Given the description of an element on the screen output the (x, y) to click on. 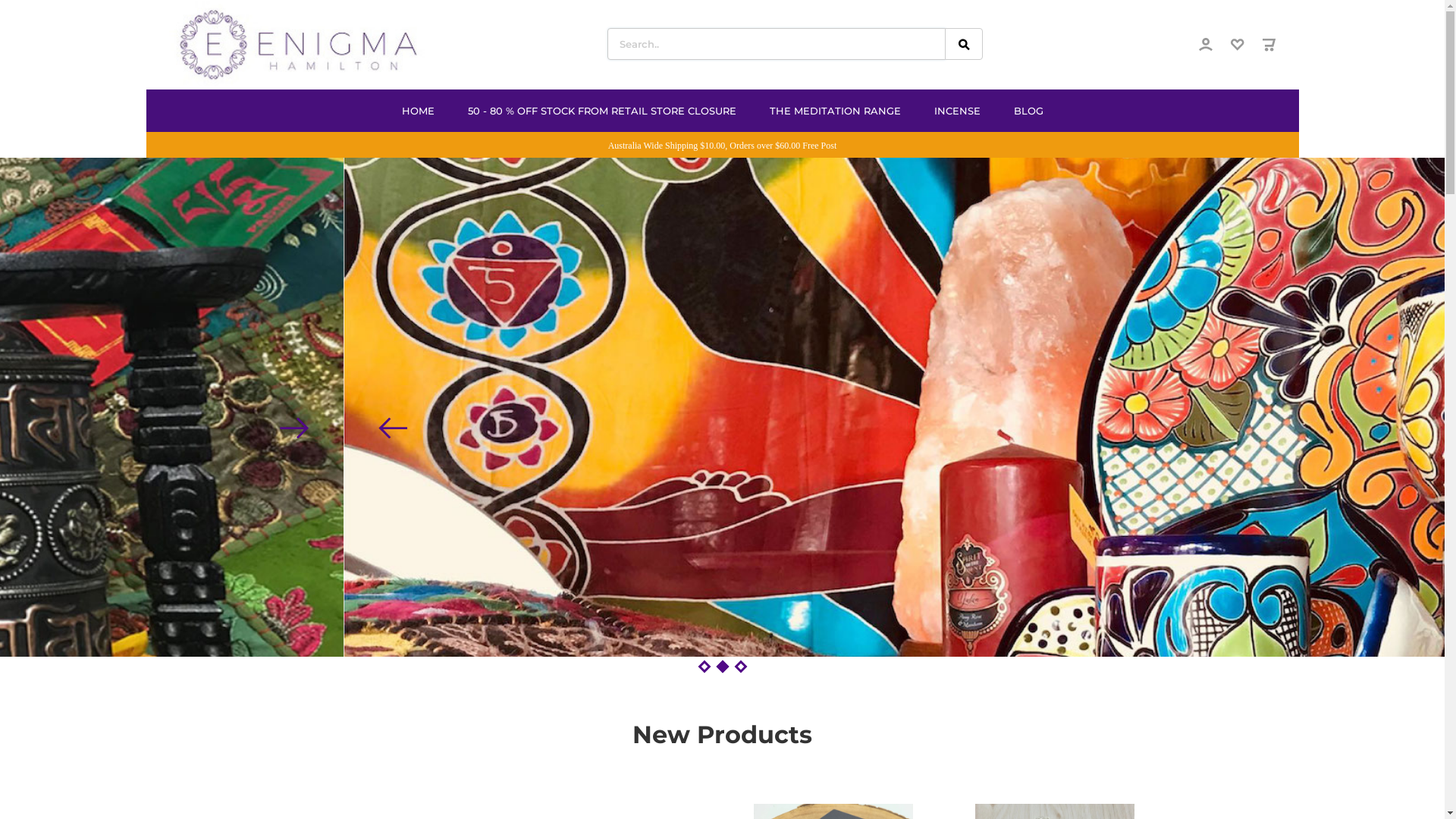
View cart Element type: hover (1268, 47)
HOME Element type: text (417, 111)
THE MEDITATION RANGE Element type: text (834, 111)
INCENSE Element type: text (957, 111)
BLOG Element type: text (1027, 111)
50 - 80 % OFF STOCK FROM RETAIL STORE CLOSURE Element type: text (601, 111)
